Given the description of an element on the screen output the (x, y) to click on. 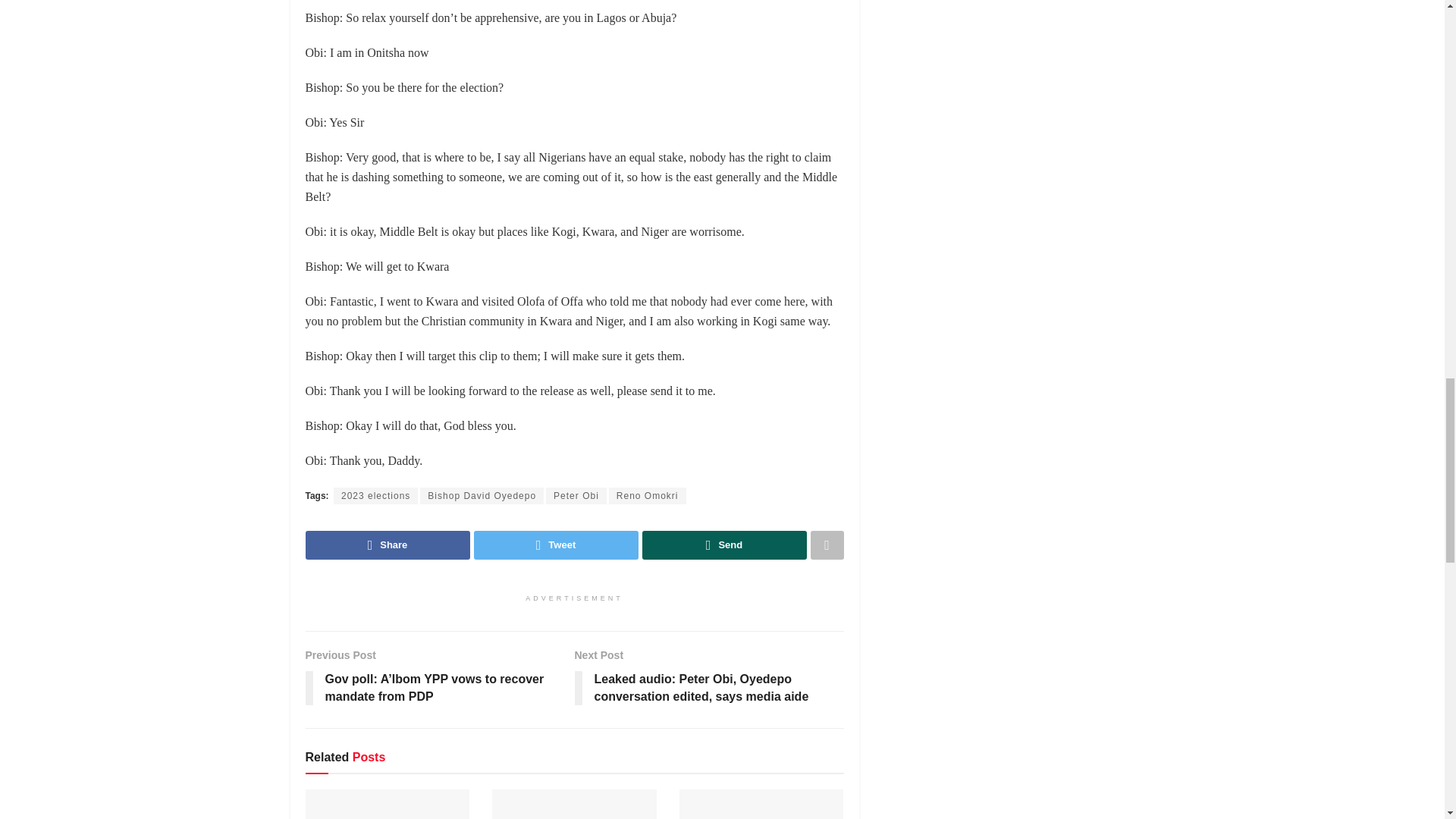
Share (386, 544)
Reno Omokri (646, 495)
2023 elections (375, 495)
Peter Obi (576, 495)
Send (724, 544)
Tweet (555, 544)
Bishop David Oyedepo (481, 495)
